Given the description of an element on the screen output the (x, y) to click on. 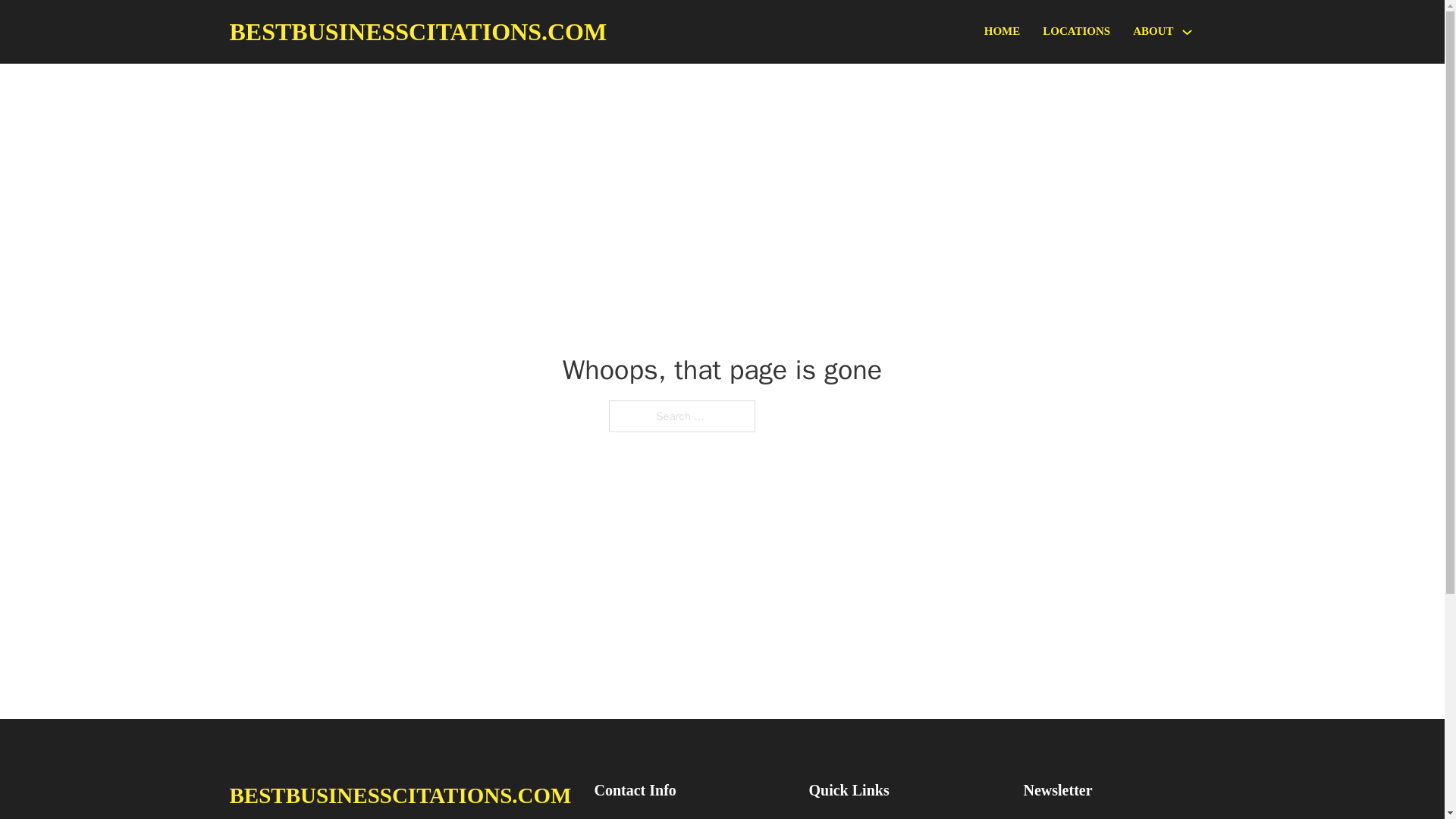
BESTBUSINESSCITATIONS.COM (417, 31)
LOCATIONS (1075, 31)
BESTBUSINESSCITATIONS.COM (399, 795)
HOME (1002, 31)
